Given the description of an element on the screen output the (x, y) to click on. 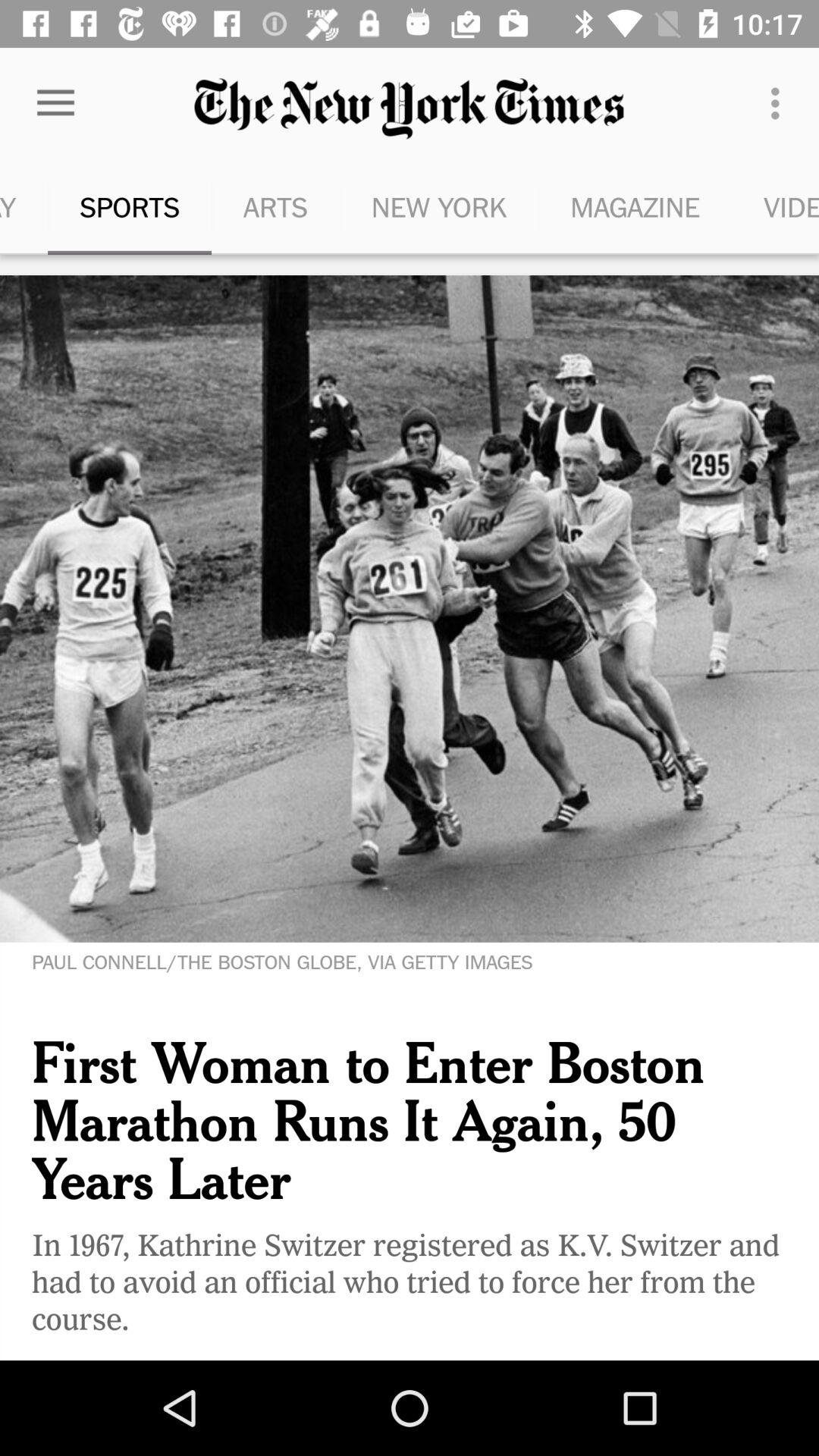
press icon to the left of video (634, 206)
